Given the description of an element on the screen output the (x, y) to click on. 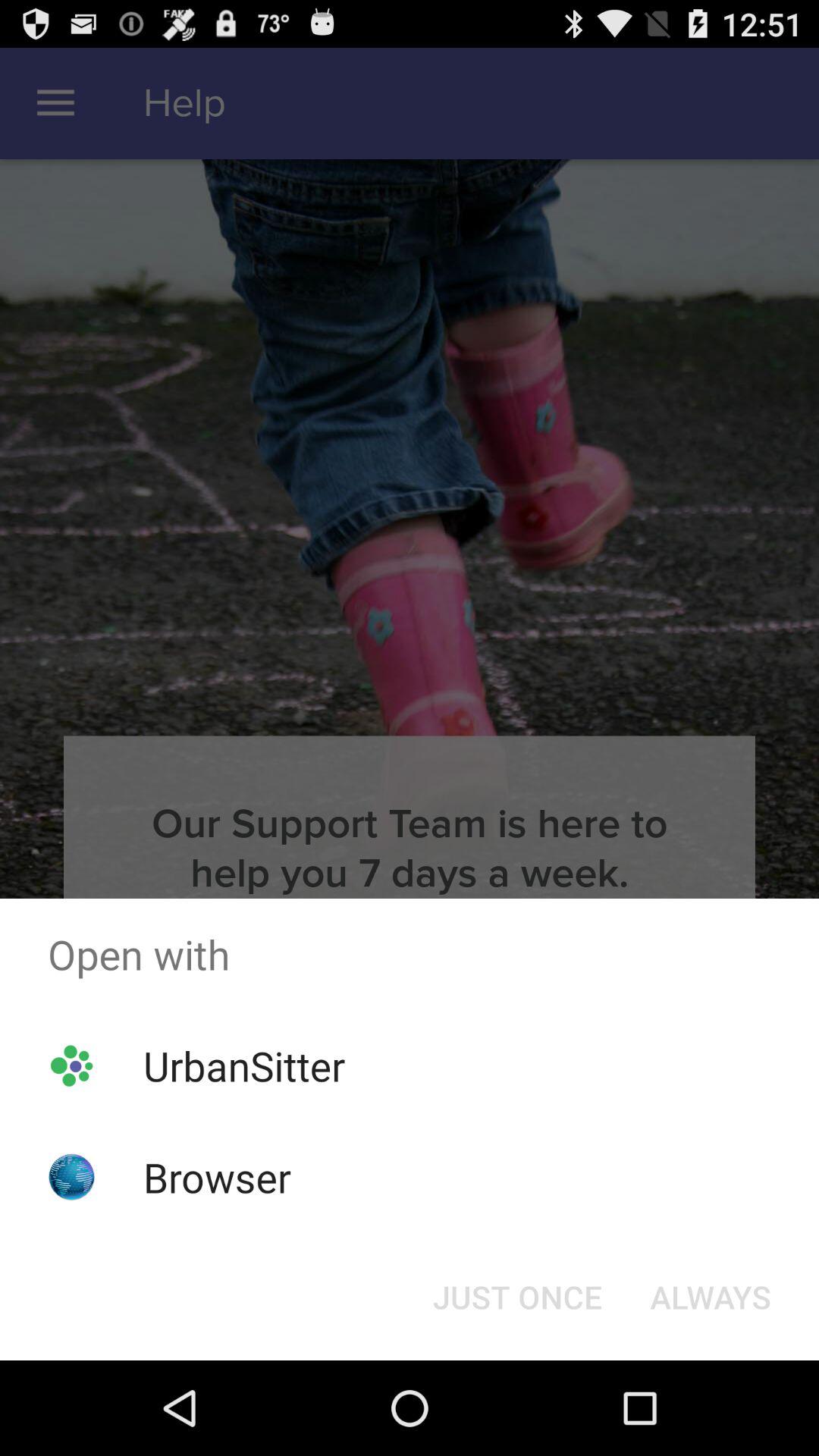
turn on the just once button (517, 1296)
